Given the description of an element on the screen output the (x, y) to click on. 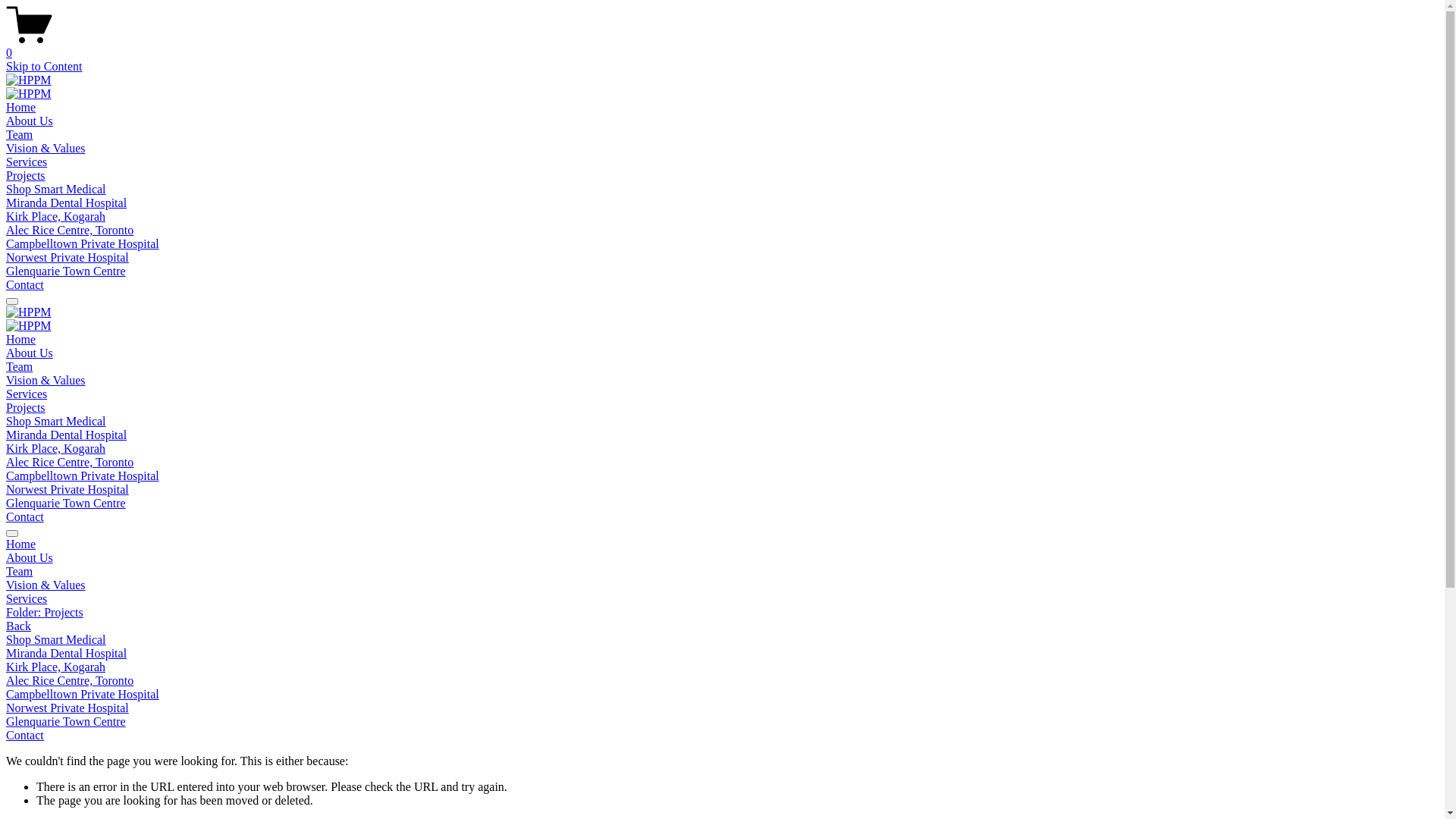
Miranda Dental Hospital Element type: text (66, 202)
Campbelltown Private Hospital Element type: text (82, 243)
Campbelltown Private Hospital Element type: text (722, 694)
Contact Element type: text (24, 516)
Alec Rice Centre, Toronto Element type: text (69, 229)
Alec Rice Centre, Toronto Element type: text (69, 461)
Norwest Private Hospital Element type: text (67, 489)
Home Element type: text (722, 544)
About Us Element type: text (722, 557)
Folder: Projects Element type: text (722, 612)
About Us Element type: text (29, 120)
Miranda Dental Hospital Element type: text (66, 434)
Projects Element type: text (25, 407)
Team Element type: text (722, 571)
Vision & Values Element type: text (722, 585)
Team Element type: text (19, 366)
About Us Element type: text (29, 352)
Team Element type: text (19, 134)
Kirk Place, Kogarah Element type: text (55, 448)
Vision & Values Element type: text (45, 379)
Norwest Private Hospital Element type: text (722, 708)
Contact Element type: text (722, 735)
Shop Smart Medical Element type: text (56, 188)
Back Element type: text (18, 625)
Services Element type: text (722, 598)
Glenquarie Town Centre Element type: text (65, 502)
Shop Smart Medical Element type: text (56, 420)
Services Element type: text (26, 161)
Shop Smart Medical Element type: text (722, 639)
Glenquarie Town Centre Element type: text (65, 270)
Vision & Values Element type: text (45, 147)
Home Element type: text (20, 338)
Miranda Dental Hospital Element type: text (722, 653)
Kirk Place, Kogarah Element type: text (55, 216)
Norwest Private Hospital Element type: text (67, 257)
Home Element type: text (20, 106)
Campbelltown Private Hospital Element type: text (82, 475)
Skip to Content Element type: text (43, 65)
0 Element type: text (722, 45)
Contact Element type: text (24, 284)
Kirk Place, Kogarah Element type: text (722, 667)
Projects Element type: text (25, 175)
Alec Rice Centre, Toronto Element type: text (722, 680)
Services Element type: text (26, 393)
Glenquarie Town Centre Element type: text (722, 721)
